Given the description of an element on the screen output the (x, y) to click on. 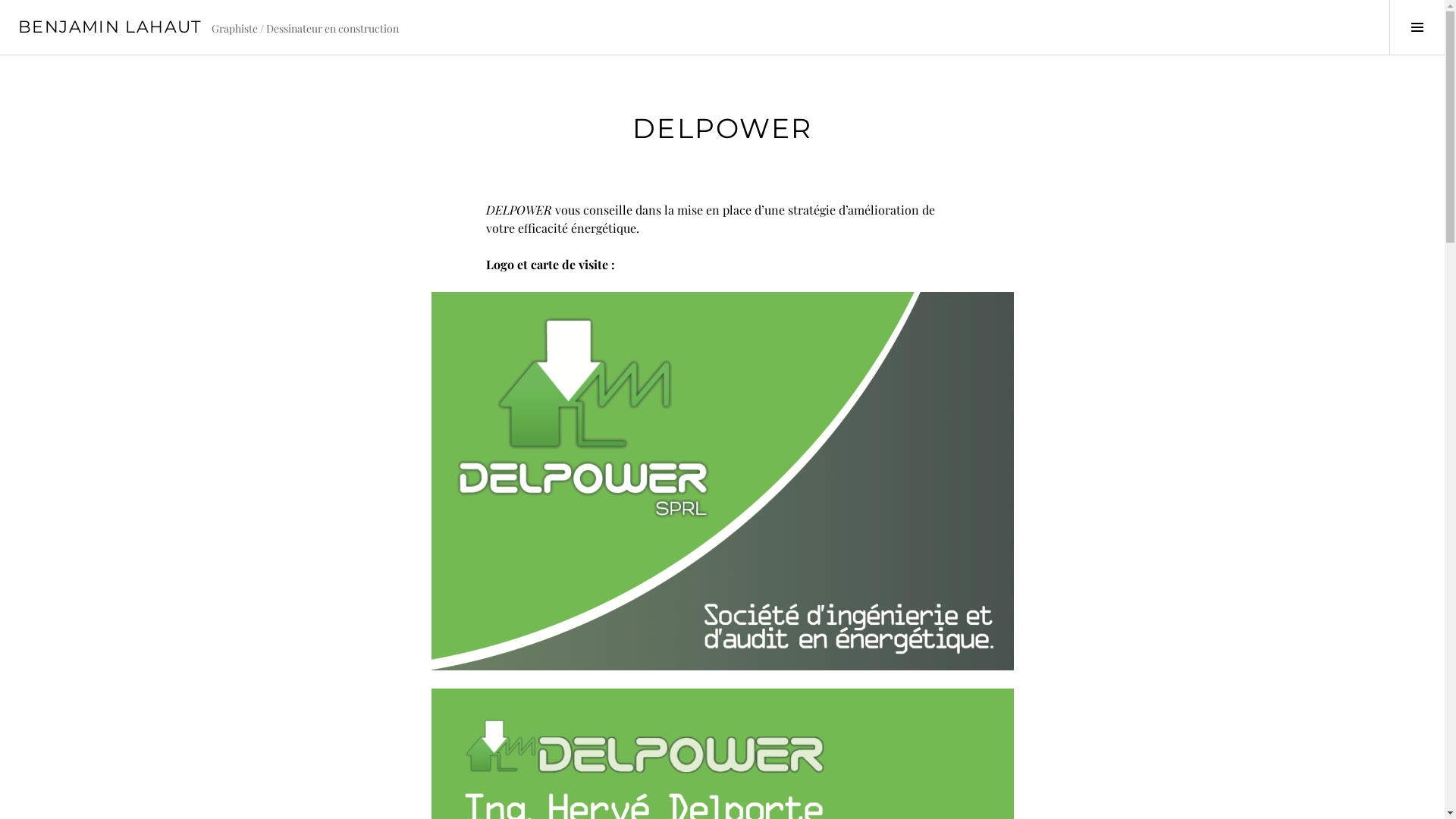
Toggle Sidebar Element type: text (1416, 27)
BENJAMIN LAHAUT Element type: text (110, 26)
